Given the description of an element on the screen output the (x, y) to click on. 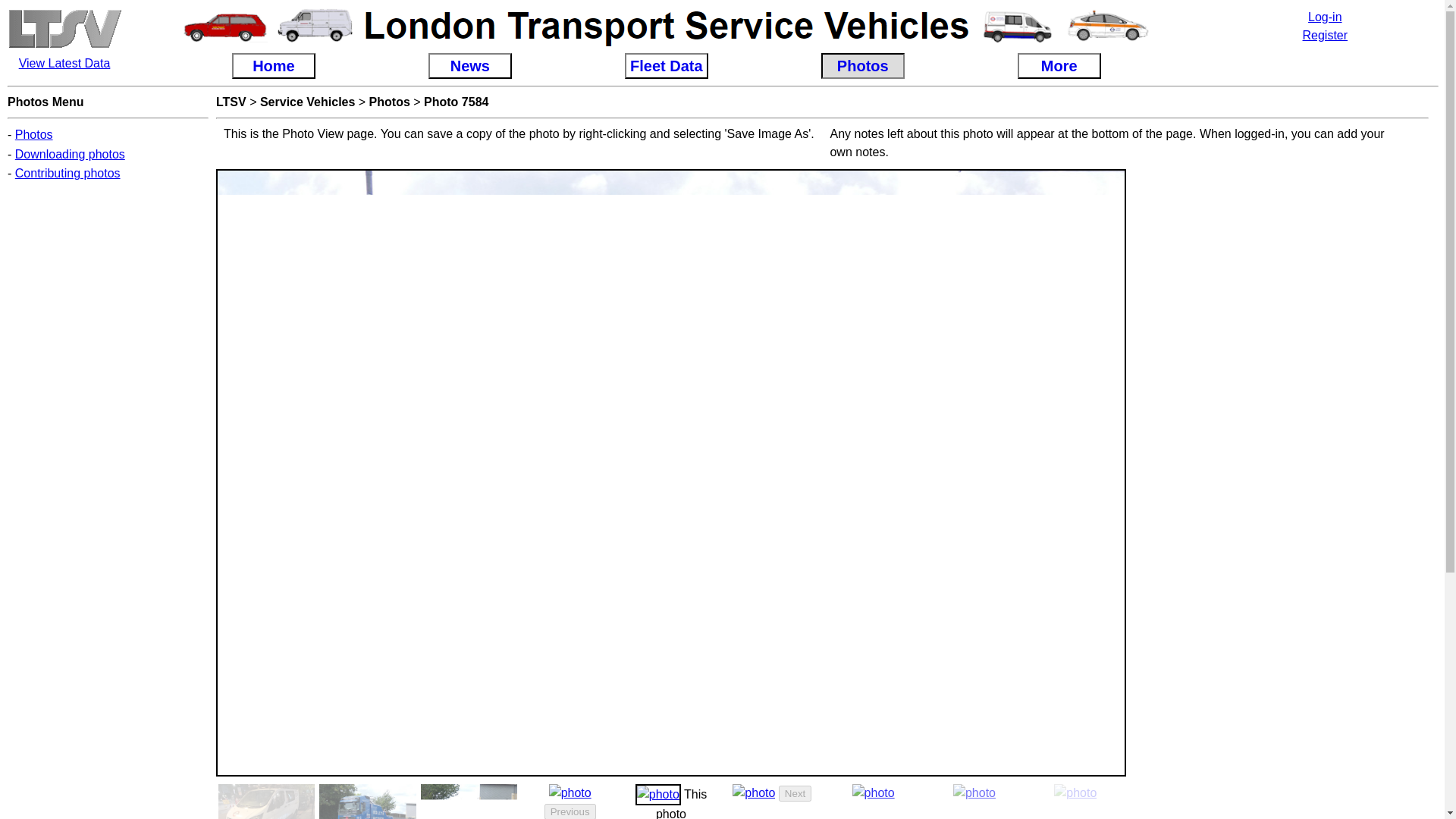
Downloading photos (69, 154)
Register. Click here to create a new user account. (1325, 34)
Click here to see information about downloading photos (69, 154)
Log-in (1323, 16)
Previous (569, 811)
LTSV (230, 101)
Previous (569, 811)
Photos (33, 133)
Contributing photos (67, 173)
Click here for the main photo gallery (33, 133)
